Given the description of an element on the screen output the (x, y) to click on. 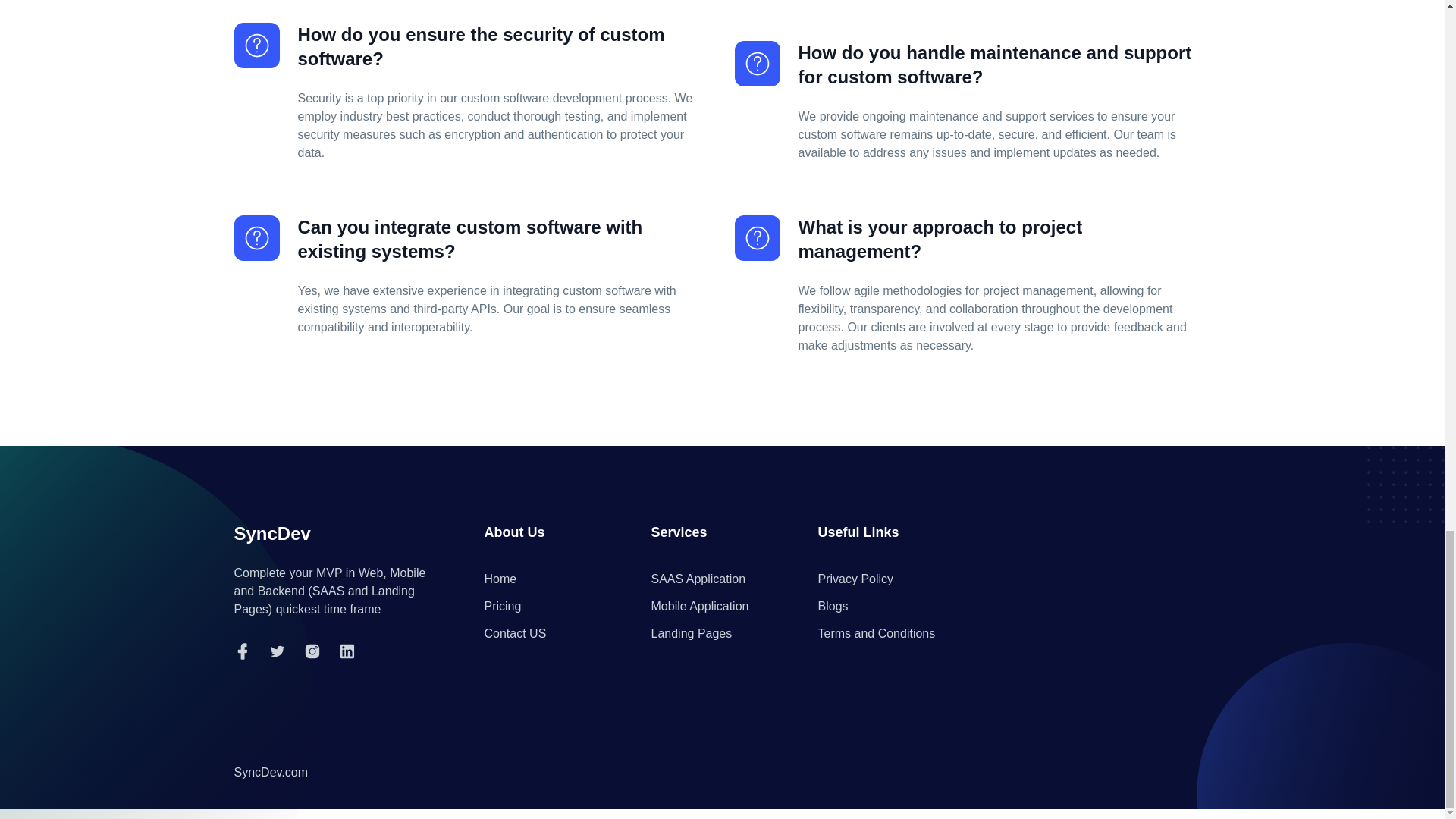
SyncDev.com (270, 772)
Pricing (502, 606)
Home (499, 579)
Privacy Policy (854, 579)
SyncDev (271, 533)
Blogs (831, 606)
SAAS Application (697, 579)
Mobile Application (699, 606)
Terms and Conditions (875, 633)
Landing Pages (691, 633)
Contact US (514, 633)
